Given the description of an element on the screen output the (x, y) to click on. 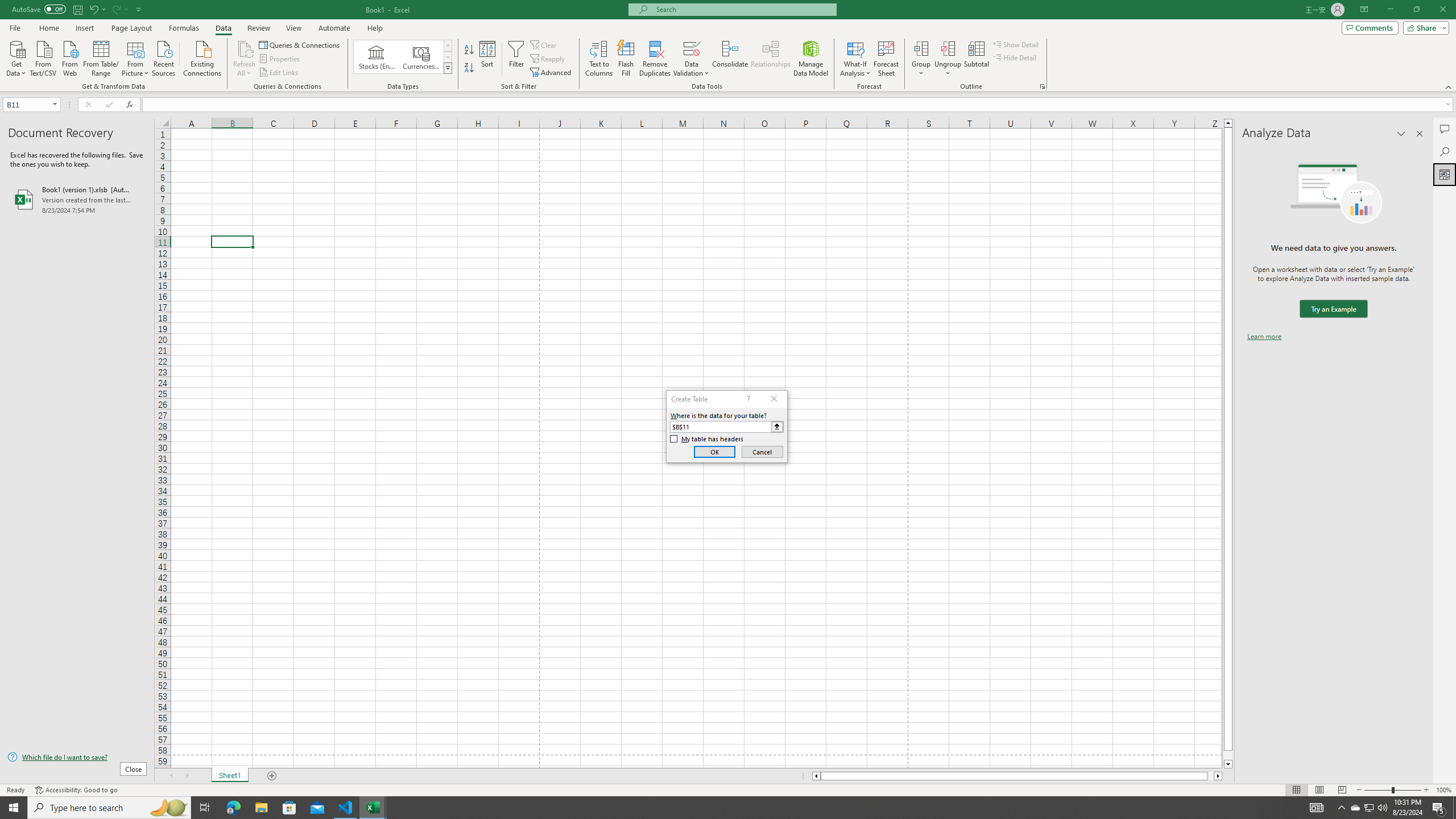
Search (1444, 151)
Sheet1 (229, 775)
Formulas (184, 28)
Scroll Right (187, 775)
Page Layout (1318, 790)
Data Validation... (691, 48)
System (6, 6)
Line down (1228, 764)
Home (48, 28)
Formula Bar (799, 104)
Help (374, 28)
What-If Analysis (855, 58)
Hide Detail (1014, 56)
Collapse the Ribbon (1448, 86)
